Given the description of an element on the screen output the (x, y) to click on. 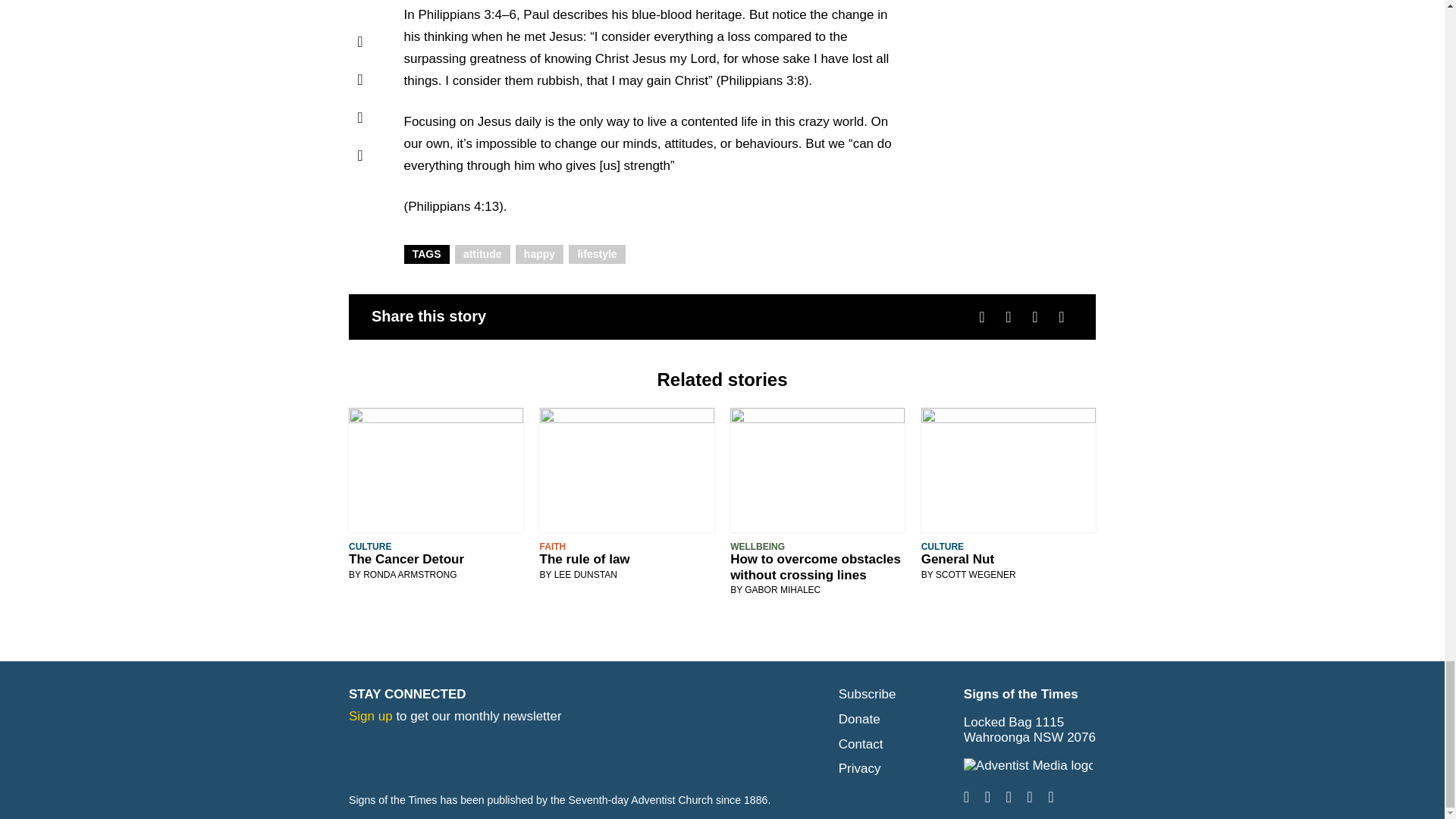
attitude (482, 253)
lifestyle (597, 253)
Share via email (1034, 315)
youtube profile (1050, 796)
Copy link (1061, 315)
happy (539, 253)
instagram profile (987, 796)
facebook profile (966, 796)
Share on Twitter (1008, 315)
Share on Facebook (981, 315)
tiktok profile (1008, 796)
twitter profile (1029, 796)
